Given the description of an element on the screen output the (x, y) to click on. 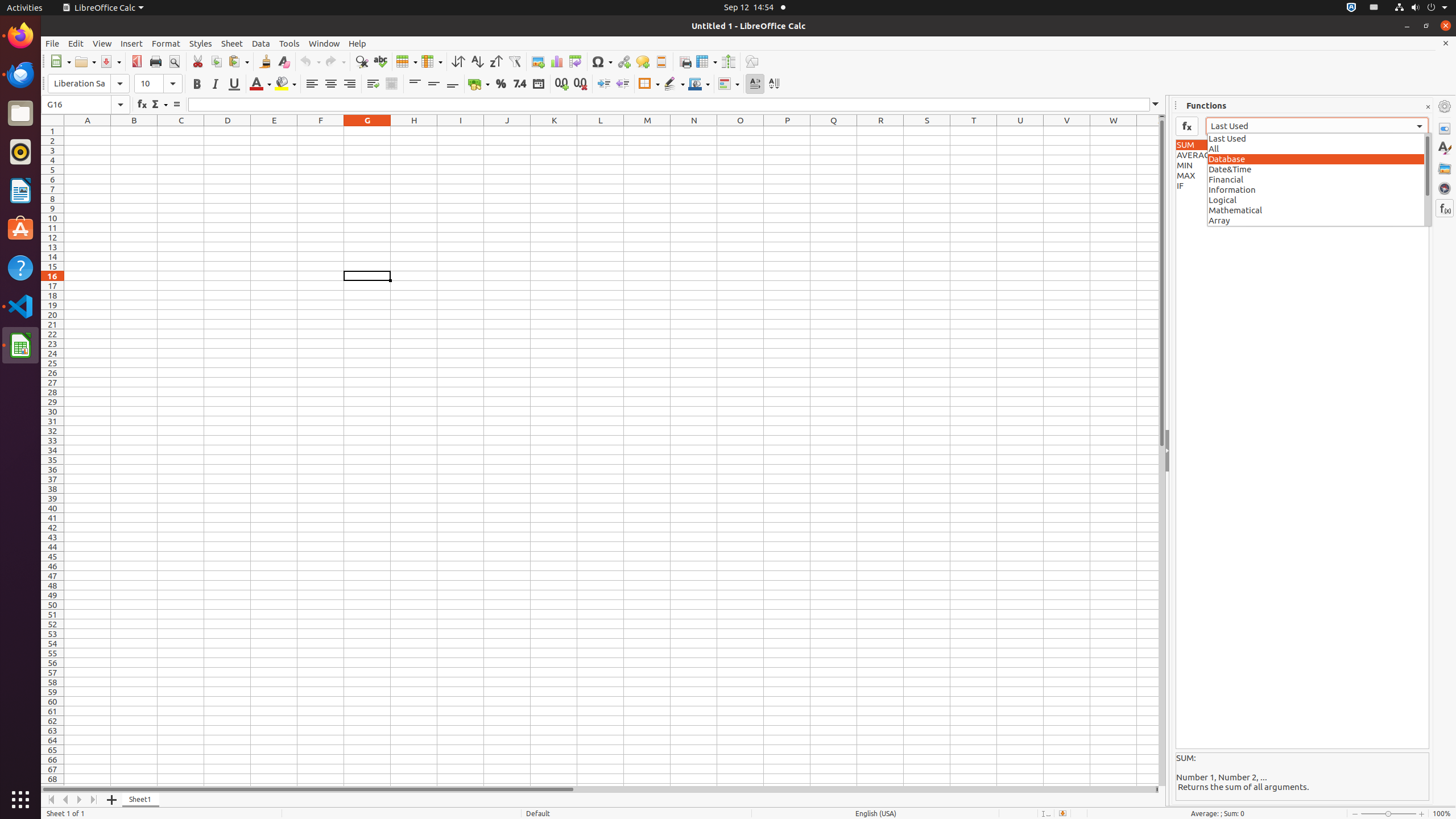
Save Element type: push-button (109, 61)
Function Wizard Element type: push-button (141, 104)
Hyperlink Element type: toggle-button (623, 61)
Insert Element type: menu (131, 43)
S1 Element type: table-cell (926, 130)
